Given the description of an element on the screen output the (x, y) to click on. 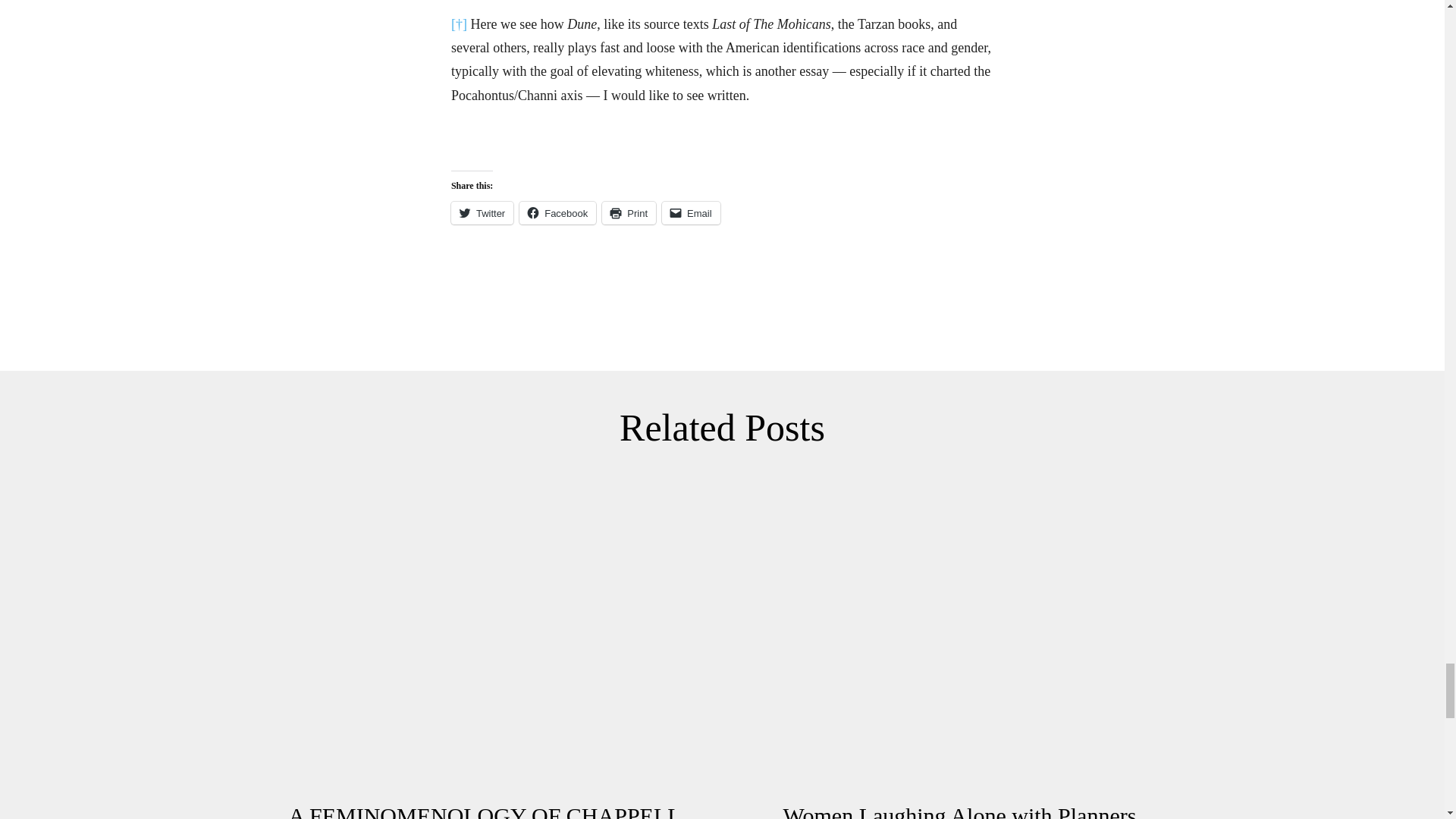
Click to share on Twitter (482, 212)
Click to email a link to a friend (691, 212)
A FEMINOMENOLOGY OF CHAPPELL ROAN (483, 634)
Click to print (629, 212)
Click to share on Facebook (557, 212)
